Given the description of an element on the screen output the (x, y) to click on. 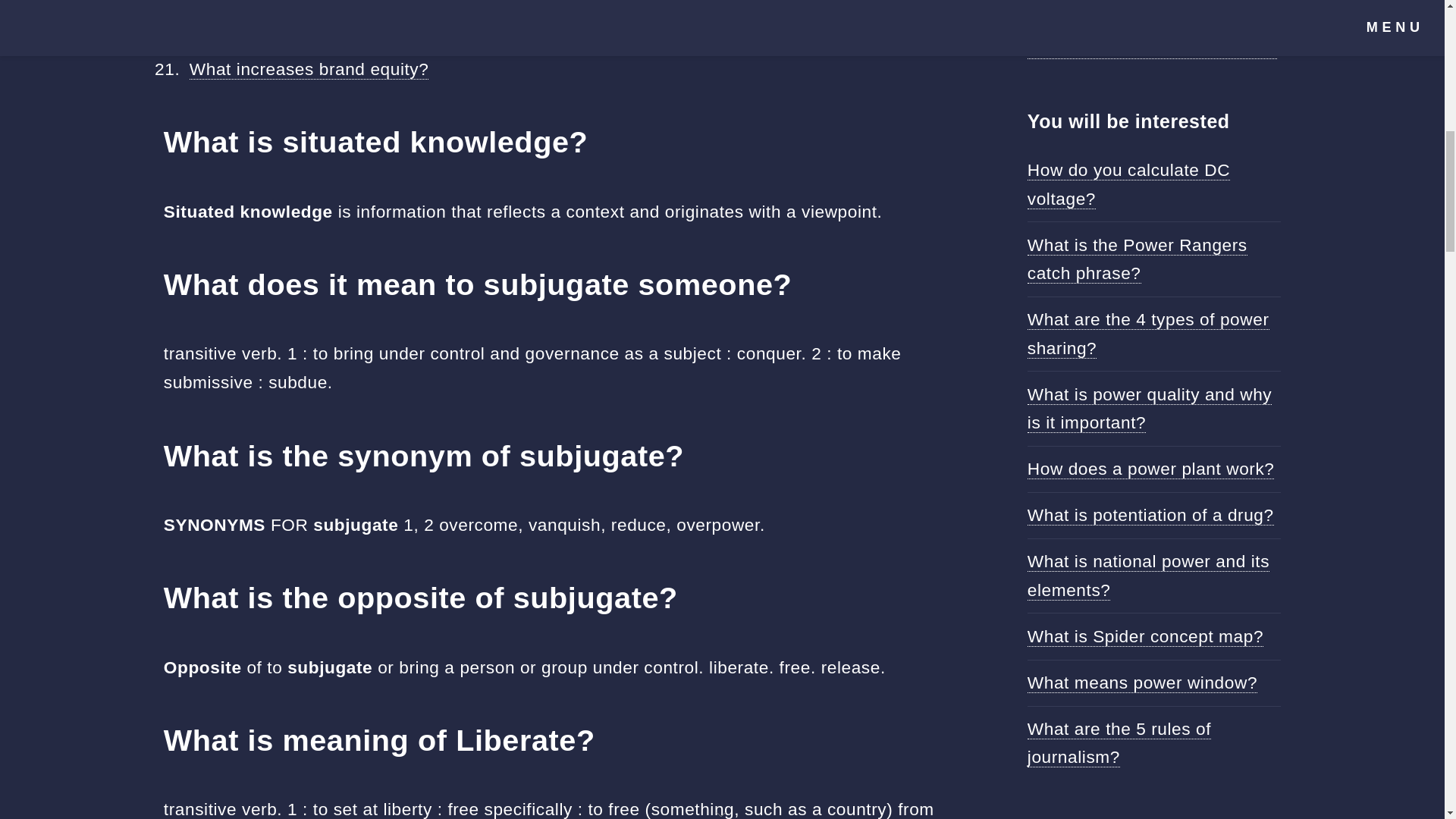
What increases brand equity? (309, 68)
What are the elements of brand equity? (347, 40)
How do you track brand equity? (316, 12)
